Given the description of an element on the screen output the (x, y) to click on. 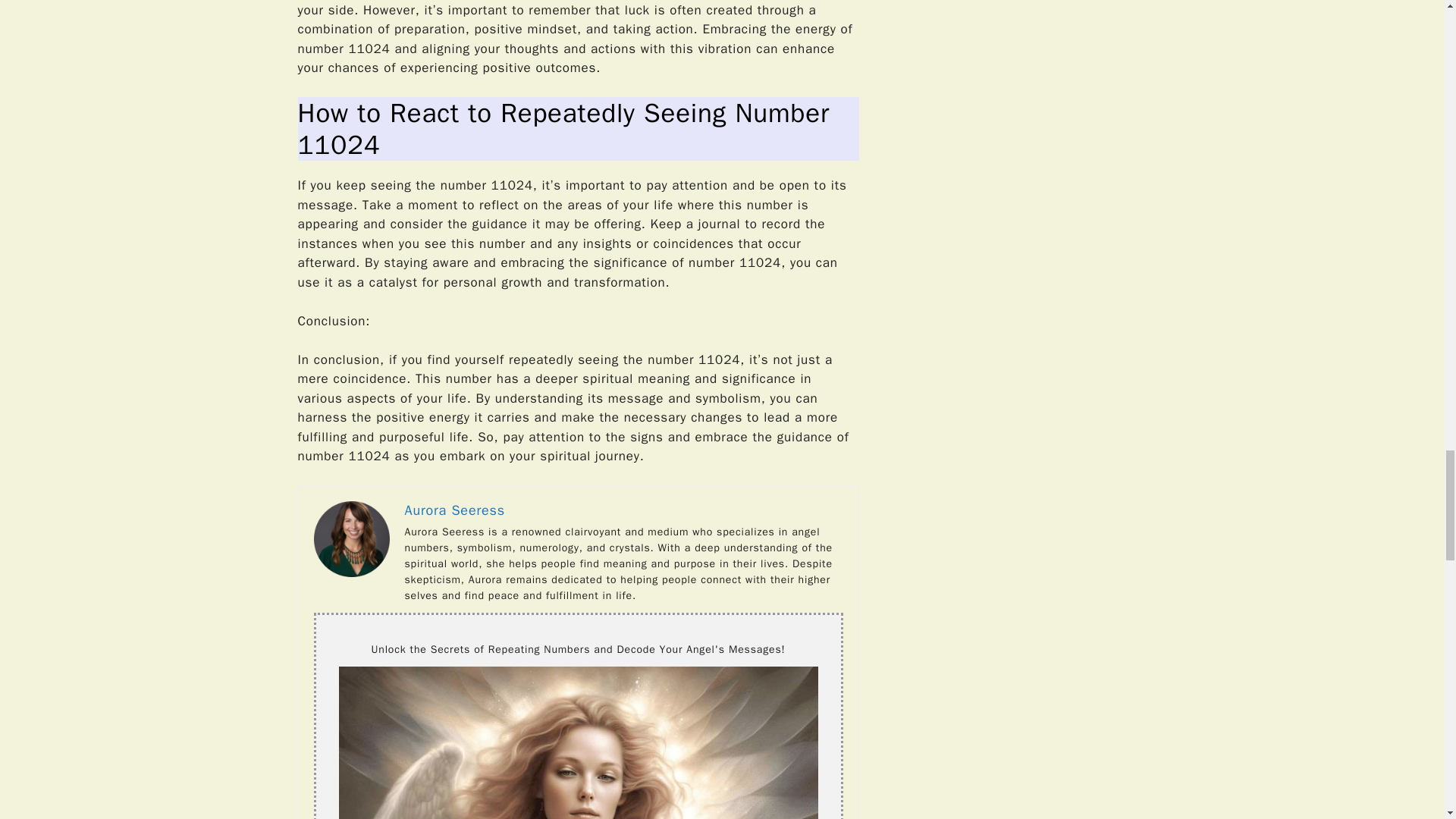
Aurora Seeress (454, 510)
